Given the description of an element on the screen output the (x, y) to click on. 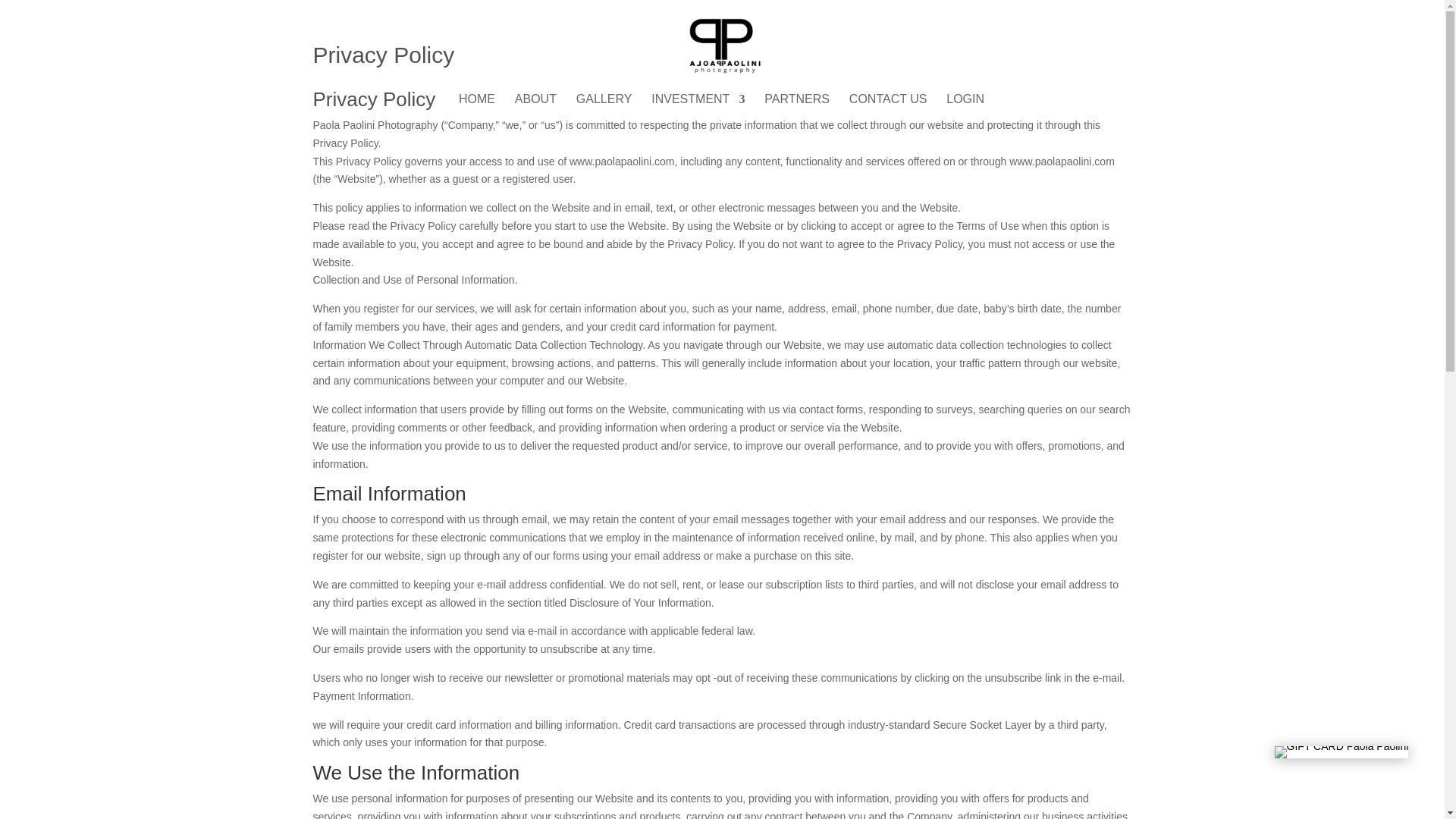
LOGIN (965, 107)
PARTNERS (796, 107)
GIFT CARD Paola Paolini (1342, 752)
GALLERY (603, 107)
CONTACT US (887, 107)
INVESTMENT (697, 107)
ABOUT (535, 107)
HOME (476, 107)
